Given the description of an element on the screen output the (x, y) to click on. 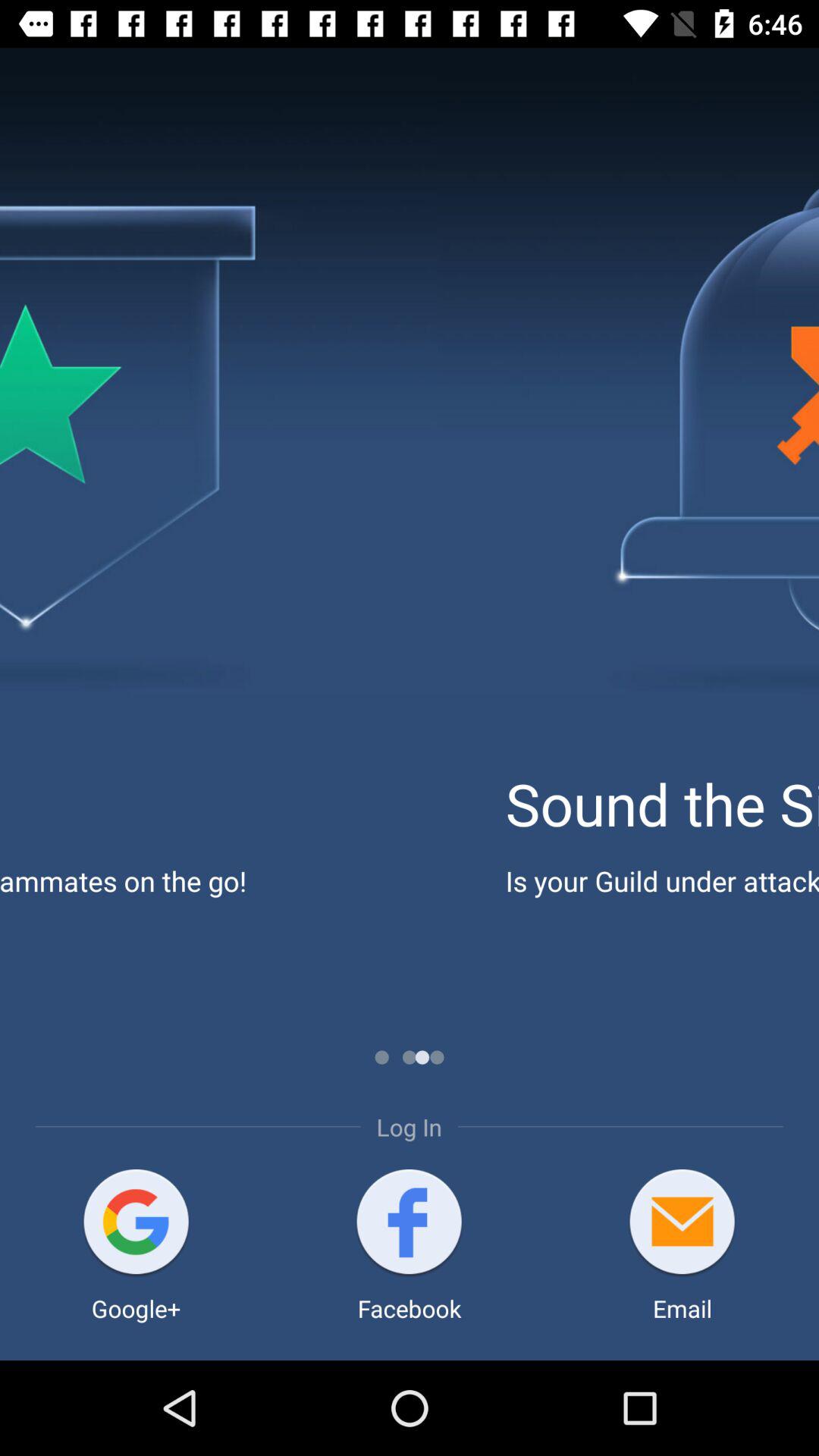
access email (681, 1223)
